Given the description of an element on the screen output the (x, y) to click on. 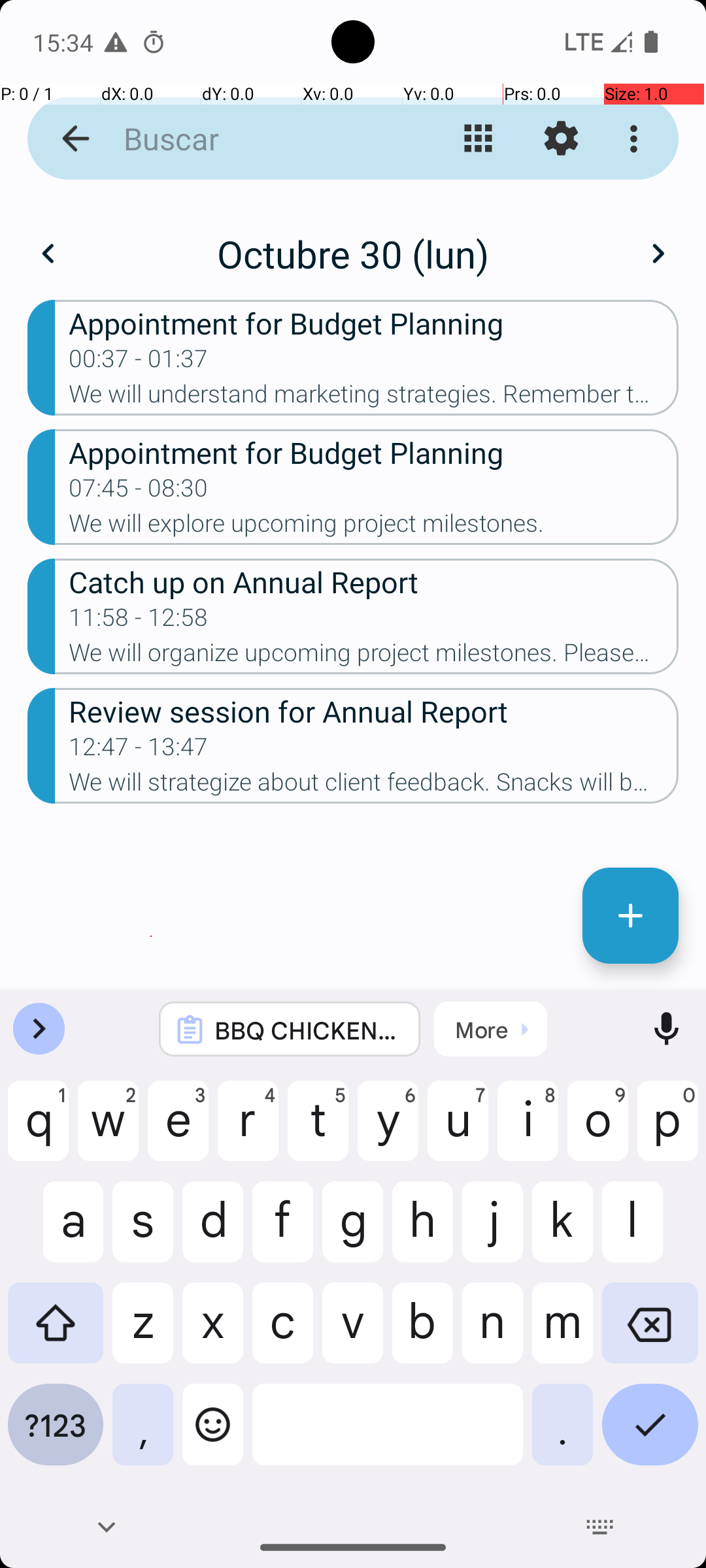
Octubre 30 (lun) Element type: android.widget.TextView (352, 253)
Appointment for Budget Planning Element type: android.widget.TextView (373, 321)
00:37 - 01:37 Element type: android.widget.TextView (137, 362)
We will understand marketing strategies. Remember to confirm attendance. Element type: android.widget.TextView (373, 397)
07:45 - 08:30 Element type: android.widget.TextView (137, 491)
We will explore upcoming project milestones. Element type: android.widget.TextView (373, 526)
Catch up on Annual Report Element type: android.widget.TextView (373, 580)
11:58 - 12:58 Element type: android.widget.TextView (137, 620)
We will organize upcoming project milestones. Please bring relevant documents. Element type: android.widget.TextView (373, 656)
Review session for Annual Report Element type: android.widget.TextView (373, 710)
12:47 - 13:47 Element type: android.widget.TextView (137, 750)
We will strategize about client feedback. Snacks will be provided. Element type: android.widget.TextView (373, 785)
BBQ CHICKEN QUESADILLAS  Servings: 8 servings Time: 45 mins  A quick and easy meal, perfect for busy weekdays.  Ingredients: - as needed  Directions: 1. Mix shredded cooked chicken with BBQ sauce. Place on tortillas with cheese, fold and cook until crispy. Feel free to substitute with ingredients you have on hand.  Shared with https://play.google.com/store/apps/details?id=com.flauschcode.broccoli Element type: android.widget.TextView (306, 1029)
